Given the description of an element on the screen output the (x, y) to click on. 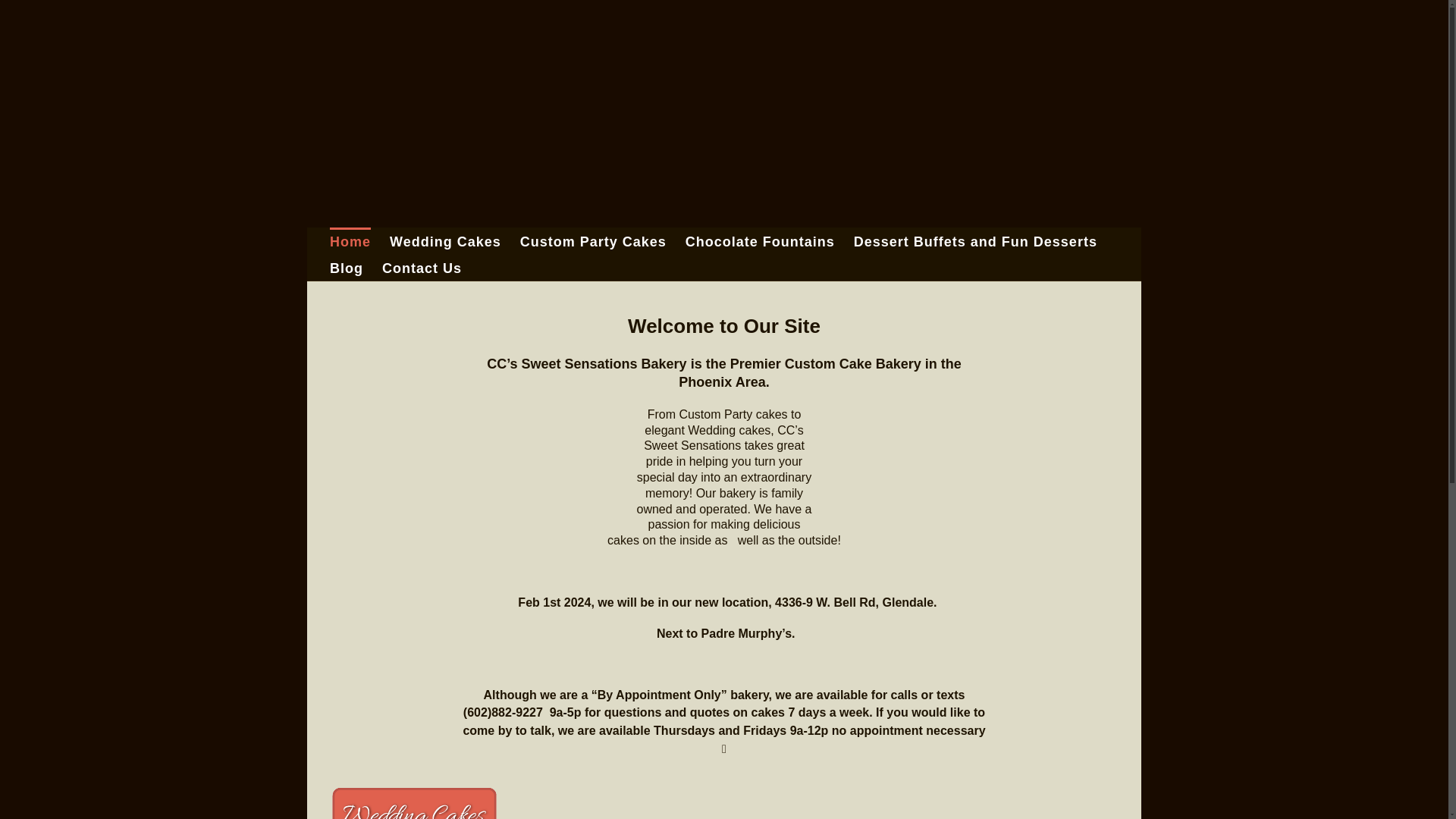
Chocolate Fountains (827, 801)
Candy Buffets (1033, 801)
Dessert Buffets and Fun Desserts (975, 240)
Blog (346, 266)
Wedding Cakes (445, 240)
Custom Party Cakes (592, 240)
Contact Us (421, 266)
Home (350, 240)
Chocolate Fountains (759, 240)
